Given the description of an element on the screen output the (x, y) to click on. 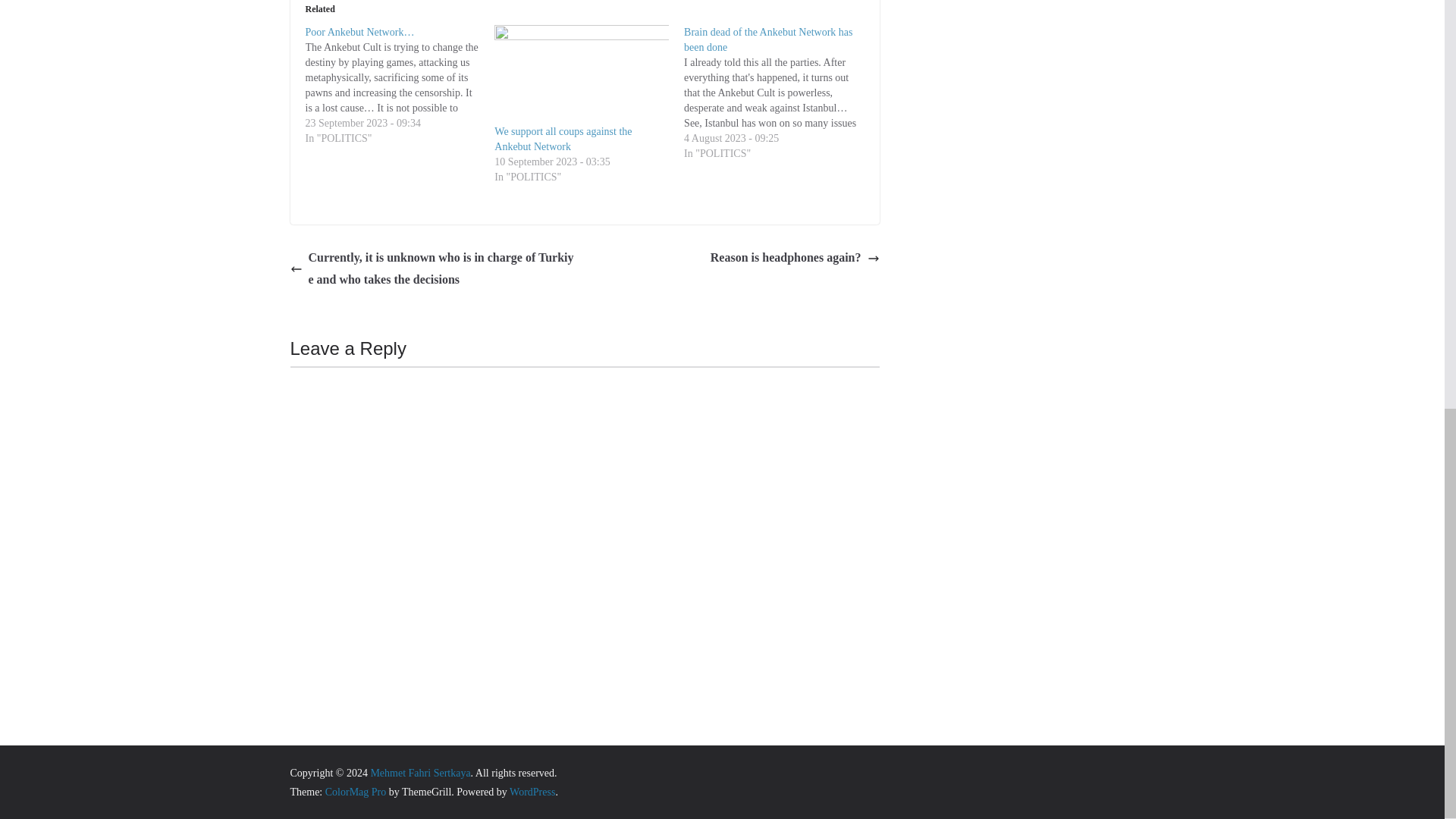
Reason is headphones again? (794, 258)
We support all coups against the Ankebut Network (563, 139)
Brain dead of the Ankebut Network has been done (767, 39)
